Given the description of an element on the screen output the (x, y) to click on. 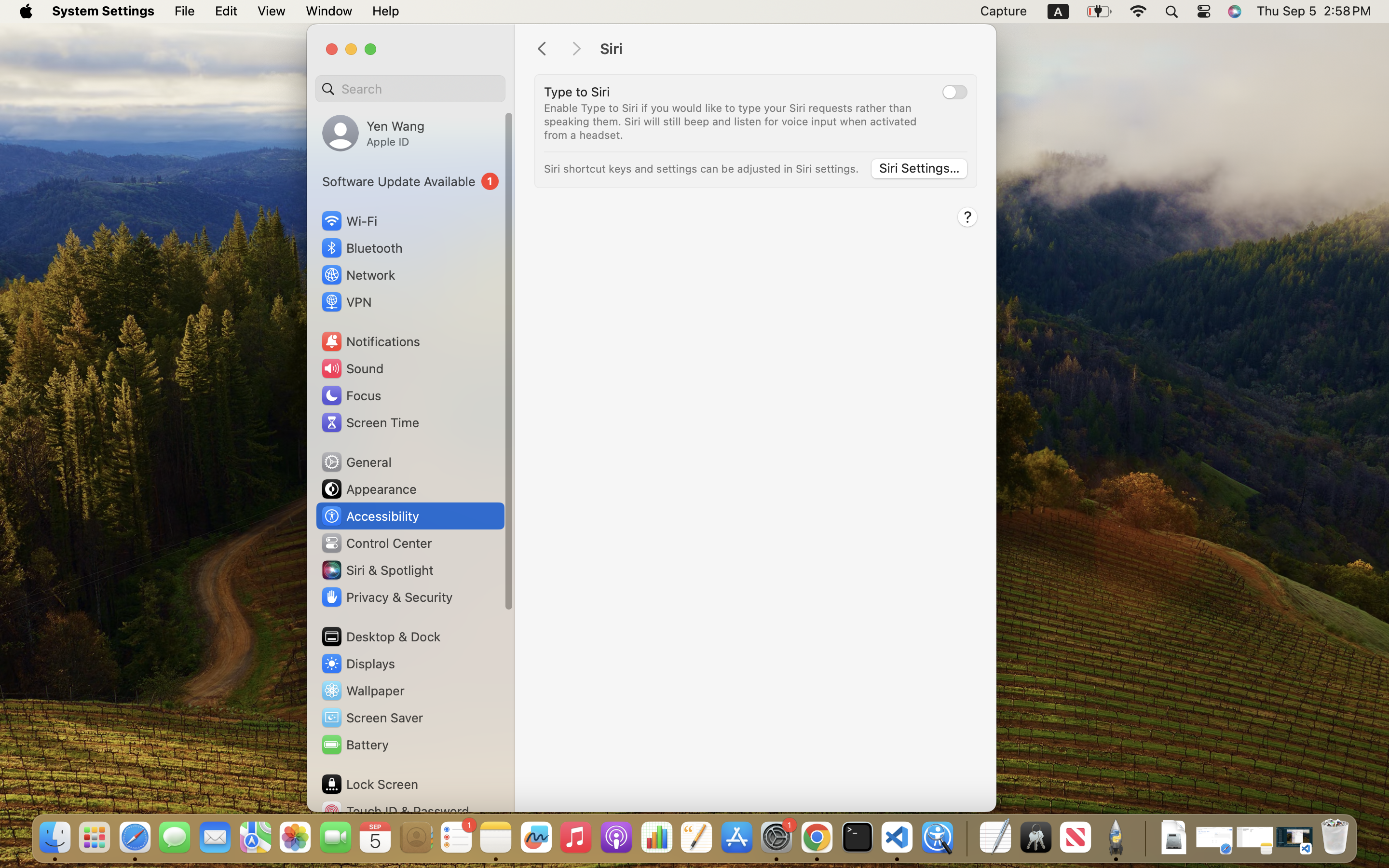
Privacy & Security Element type: AXStaticText (386, 596)
Yen Wang, Apple ID Element type: AXStaticText (373, 132)
General Element type: AXStaticText (355, 461)
Enable Type to Siri if you would like to type your Siri requests rather than speaking them. Siri will still beep and listen for voice input when activated from a headset. Element type: AXStaticText (732, 121)
